Given the description of an element on the screen output the (x, y) to click on. 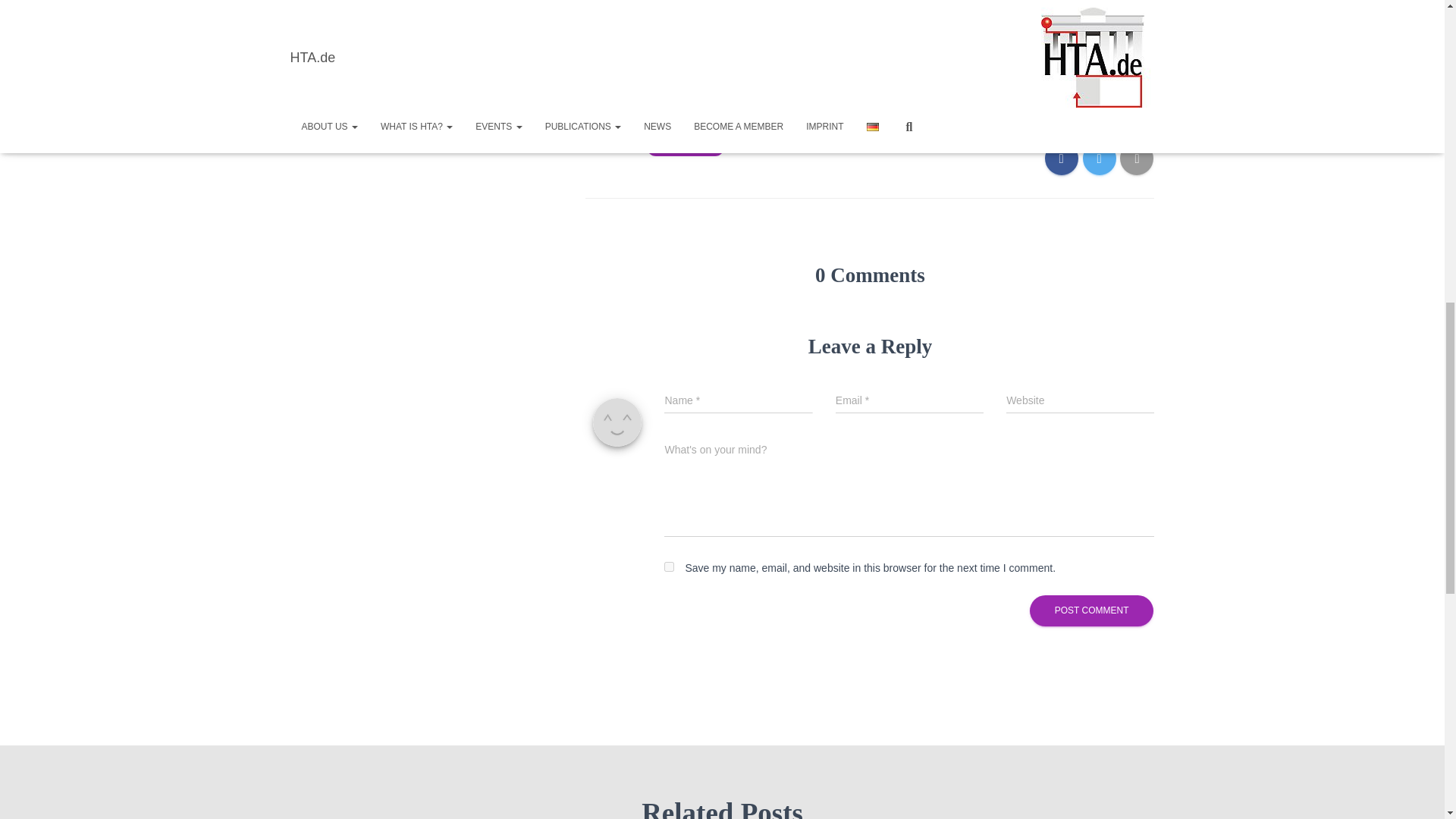
PUBLICATIONS (685, 146)
Post Comment (1091, 610)
Post Comment (1091, 610)
press release (659, 80)
yes (668, 566)
